Given the description of an element on the screen output the (x, y) to click on. 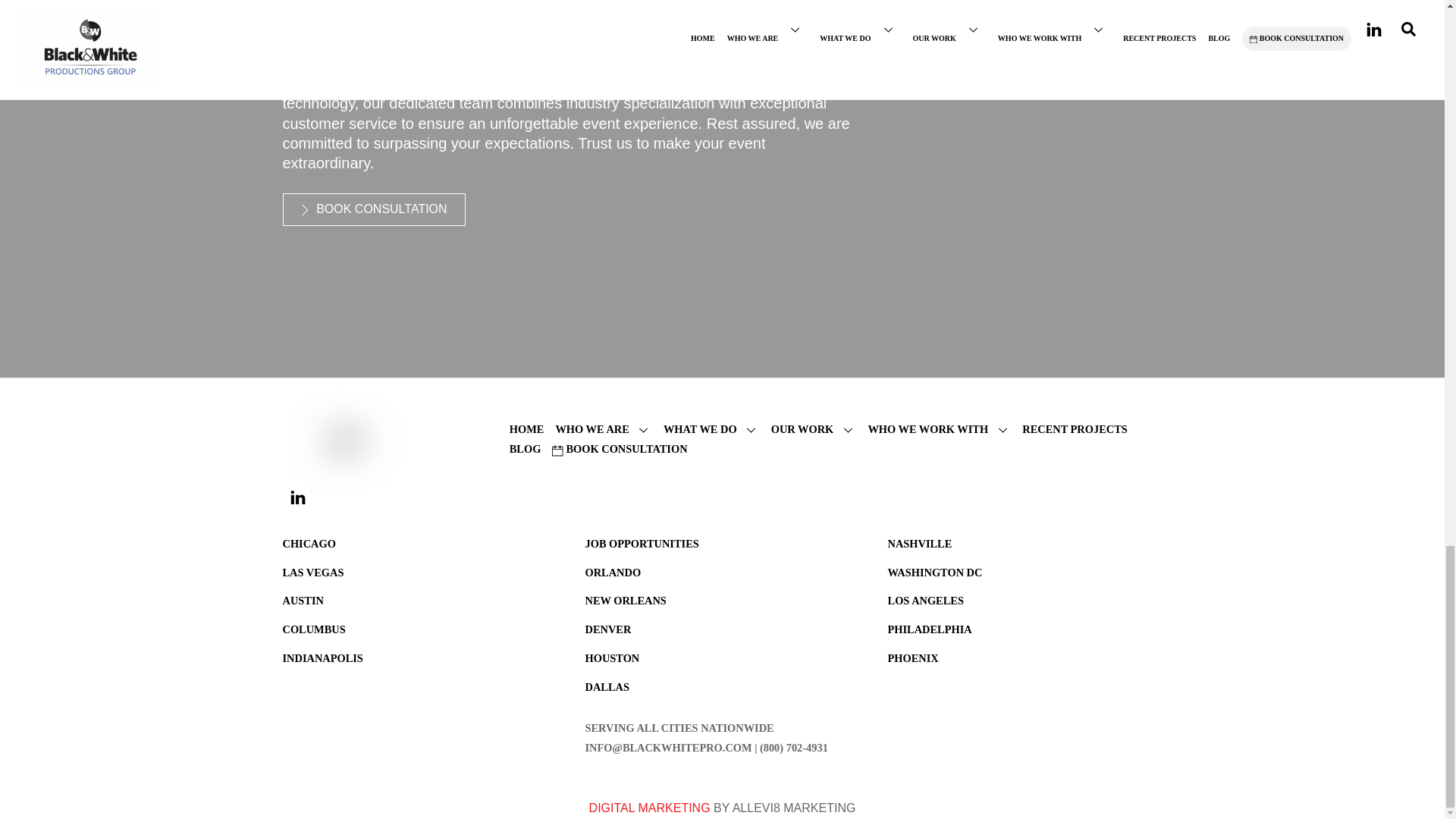
HOME (526, 428)
01black (320, 441)
BOOK CONSULTATION (373, 209)
WHO WE ARE (602, 428)
